Given the description of an element on the screen output the (x, y) to click on. 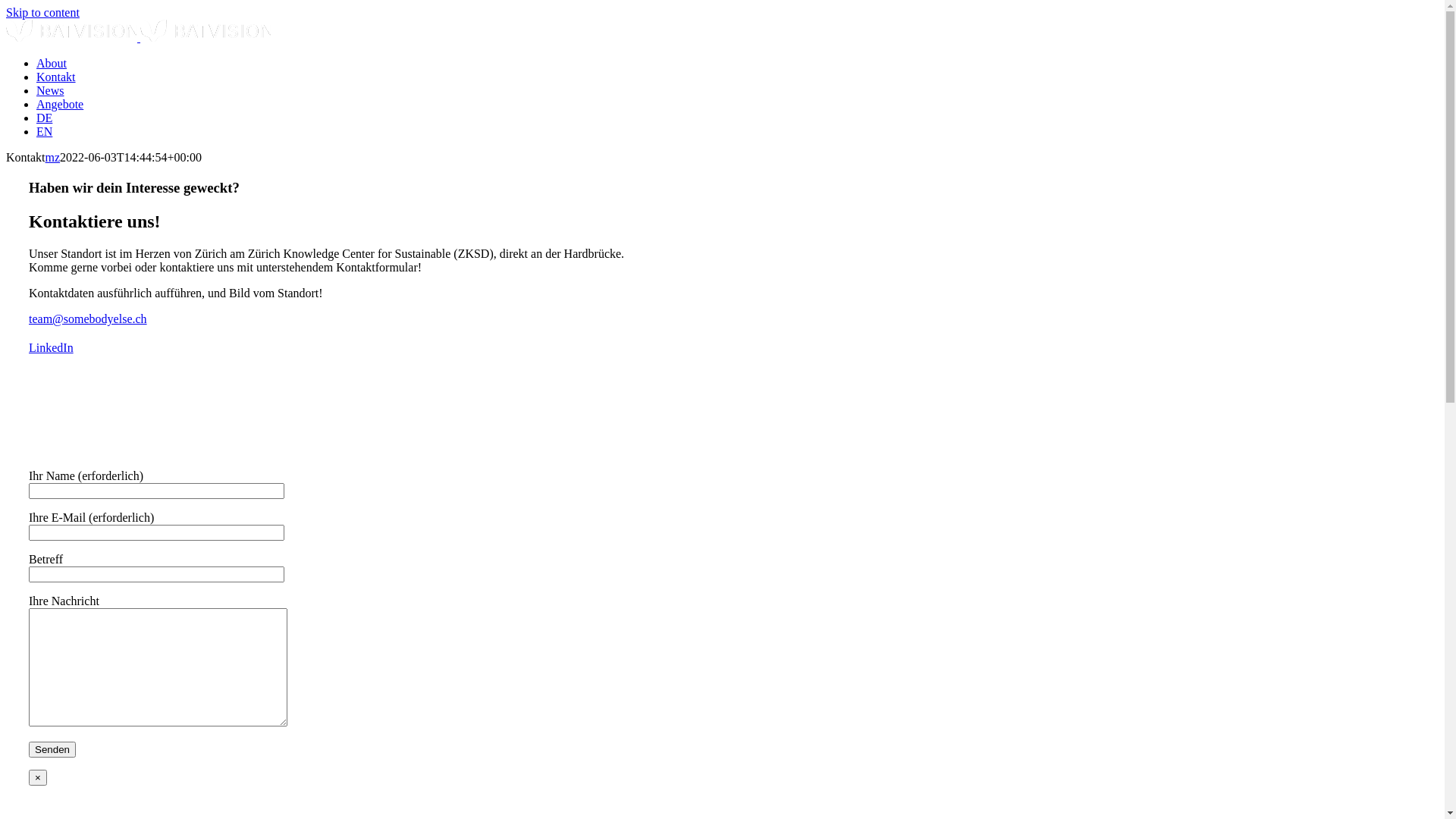
News Element type: text (49, 90)
Skip to content Element type: text (42, 12)
team@somebodyelse.ch Element type: text (87, 318)
Senden Element type: text (51, 749)
DE Element type: text (44, 117)
EN Element type: text (44, 131)
Kontakt Element type: text (55, 76)
mz Element type: text (52, 156)
LinkedIn Element type: text (50, 347)
About Element type: text (51, 62)
Angebote Element type: text (59, 103)
